Given the description of an element on the screen output the (x, y) to click on. 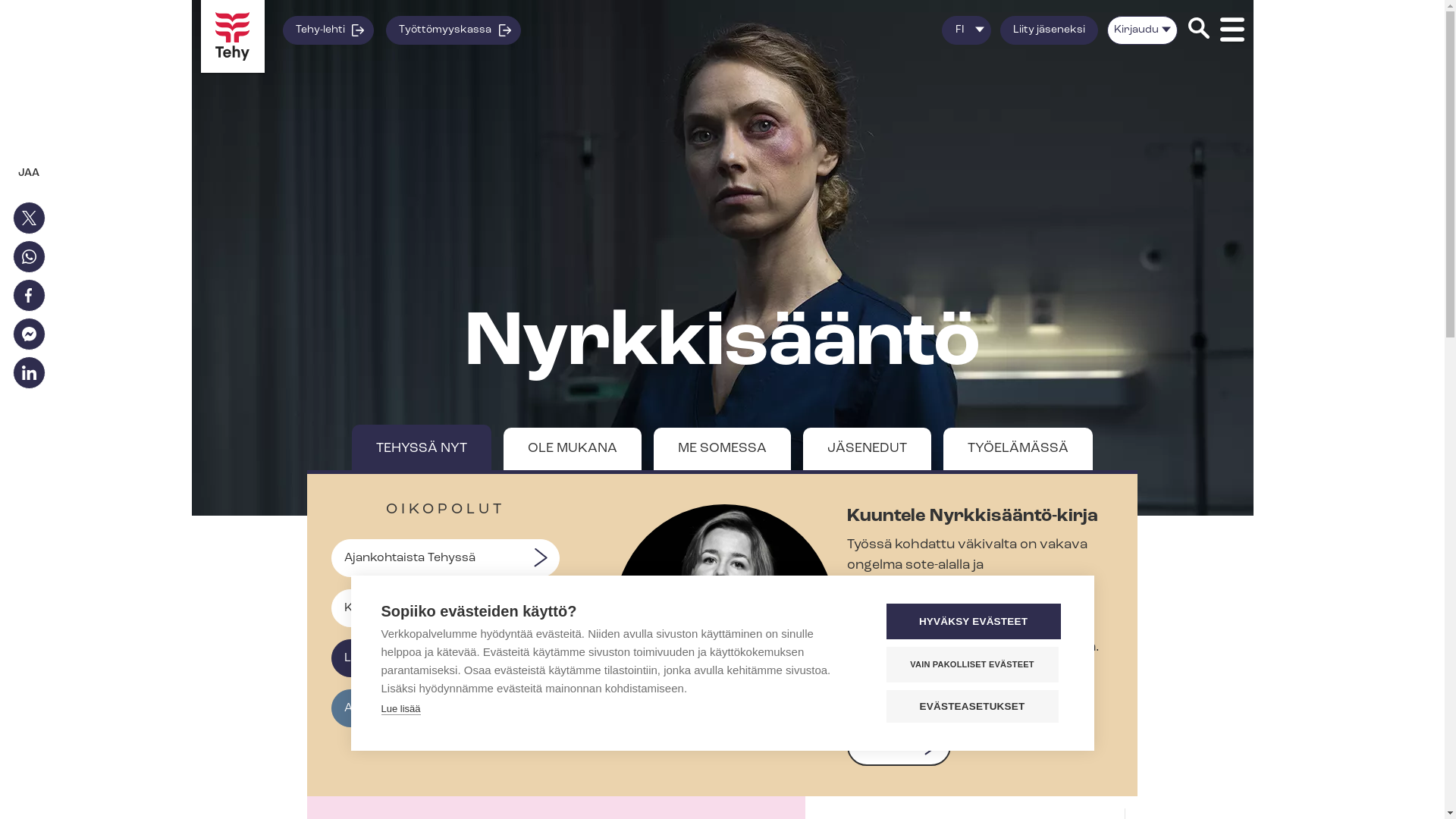
Asiointipalvelu Element type: text (444, 708)
Avaa valikko Element type: text (1231, 29)
Twitter Element type: text (28, 217)
WhatsApp Element type: text (28, 256)
Tehy-lehti Element type: text (327, 29)
Kuuntele Element type: text (898, 745)
ME SOMESSA Element type: text (721, 448)
Facebook Element type: text (28, 295)
Etsi Element type: text (1198, 29)
OLE MUKANA Element type: text (572, 448)
Tehy Element type: text (231, 36)
LinkedIn Element type: text (28, 372)
Koulutuskalenteri Element type: text (444, 608)
Facebook Messenger Element type: text (28, 333)
Kirjaudu Element type: text (1142, 29)
